Given the description of an element on the screen output the (x, y) to click on. 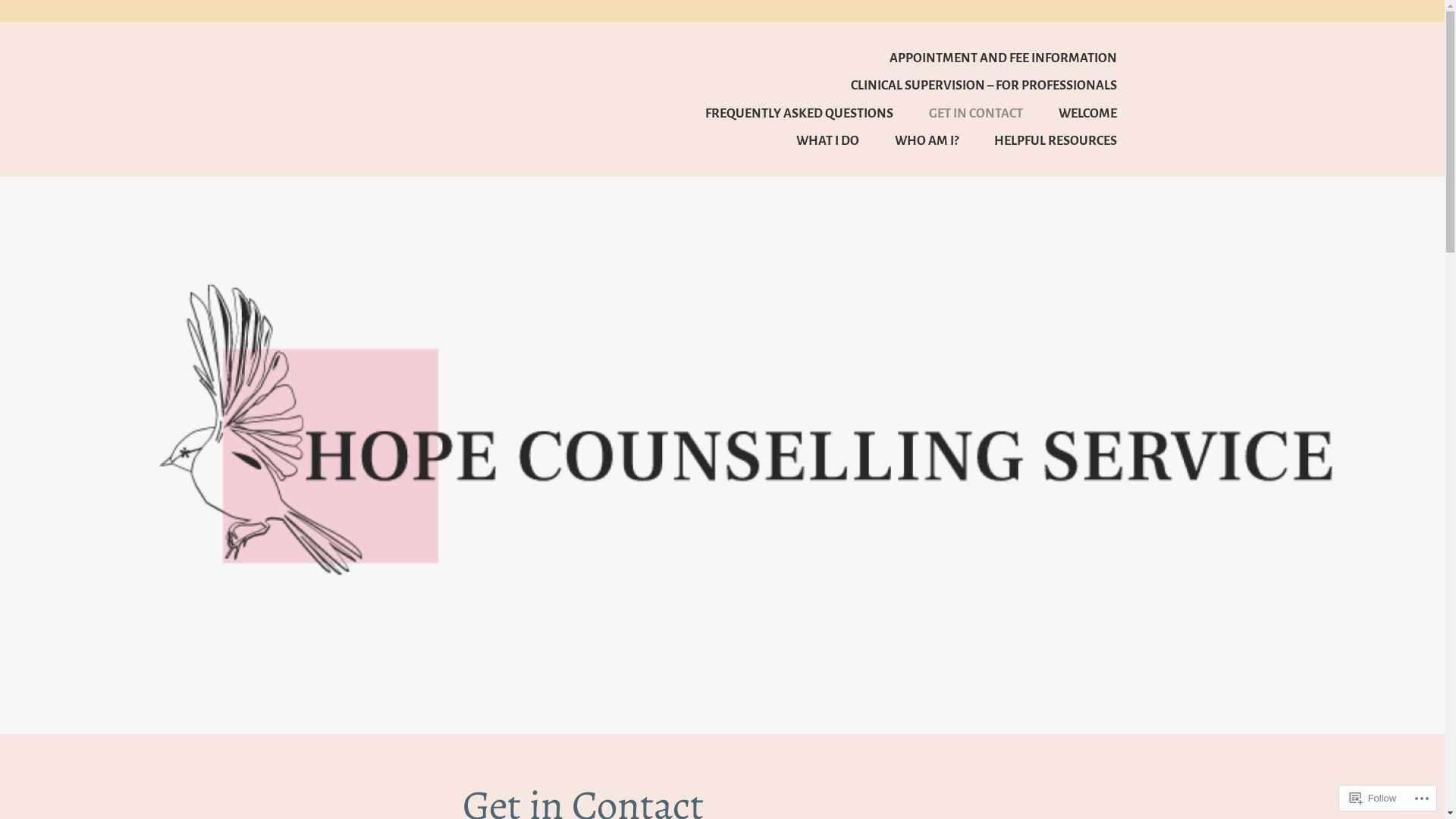
WHAT I DO Element type: text (810, 139)
APPOINTMENT AND FEE INFORMATION Element type: text (986, 57)
WELCOME Element type: text (1071, 112)
GET IN CONTACT Element type: text (958, 112)
HELPFUL RESOURCES Element type: text (1038, 139)
Follow Element type: text (1372, 797)
FREQUENTLY ASKED QUESTIONS Element type: text (782, 112)
WHO AM I? Element type: text (909, 139)
